Given the description of an element on the screen output the (x, y) to click on. 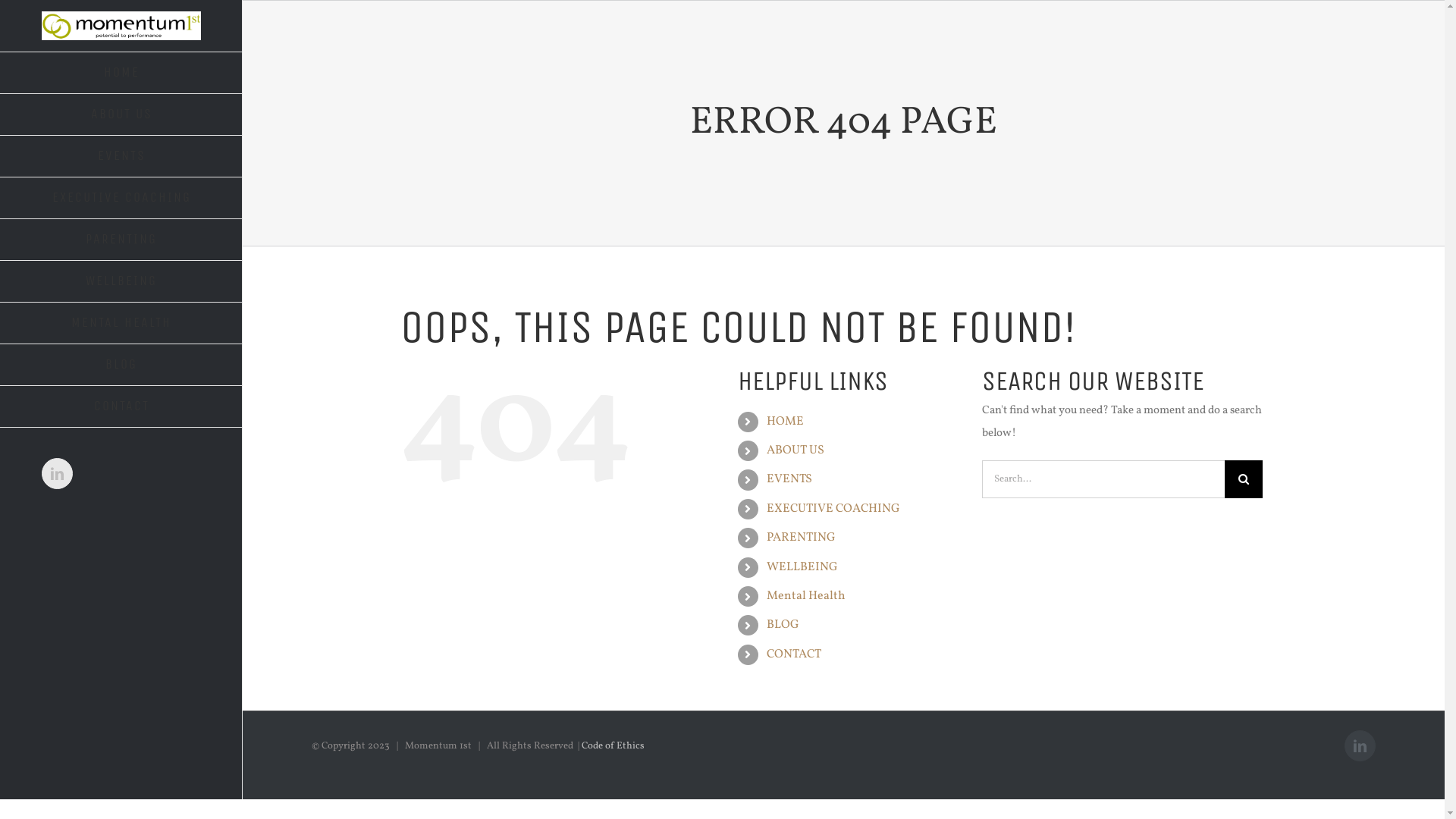
WELLBEING Element type: text (801, 566)
BLOG Element type: text (782, 624)
LinkedIn Element type: text (1359, 745)
EVENTS Element type: text (121, 156)
EXECUTIVE COACHING Element type: text (833, 508)
HOME Element type: text (121, 72)
PARENTING Element type: text (800, 537)
HOME Element type: text (784, 421)
CONTACT Element type: text (121, 406)
Code of Ethics Element type: text (612, 746)
Mental Health Element type: text (805, 595)
PARENTING Element type: text (121, 239)
EVENTS Element type: text (789, 478)
CONTACT Element type: text (793, 654)
LinkedIn Element type: text (56, 473)
MENTAL HEALTH Element type: text (121, 323)
ABOUT US Element type: text (795, 450)
BLOG Element type: text (121, 364)
EXECUTIVE COACHING Element type: text (121, 198)
ABOUT US Element type: text (121, 114)
WELLBEING Element type: text (121, 281)
